Given the description of an element on the screen output the (x, y) to click on. 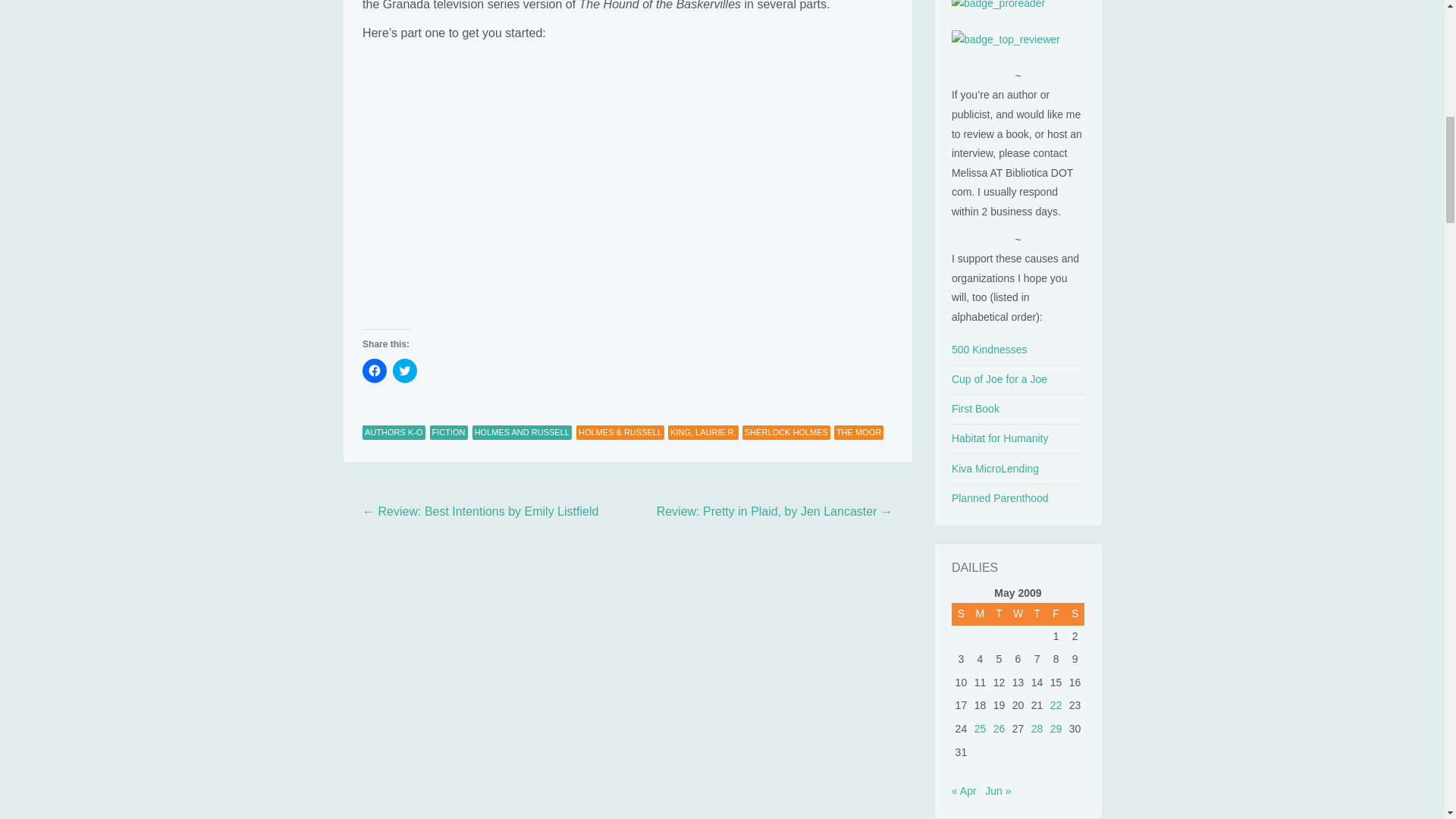
HOLMES AND RUSSELL (521, 432)
THE MOOR (858, 432)
KING, LAURIE R. (703, 432)
Click to share on Facebook (374, 370)
FICTION (448, 432)
Click to share on Twitter (404, 370)
SHERLOCK HOLMES (785, 432)
AUTHORS K-O (393, 432)
